Given the description of an element on the screen output the (x, y) to click on. 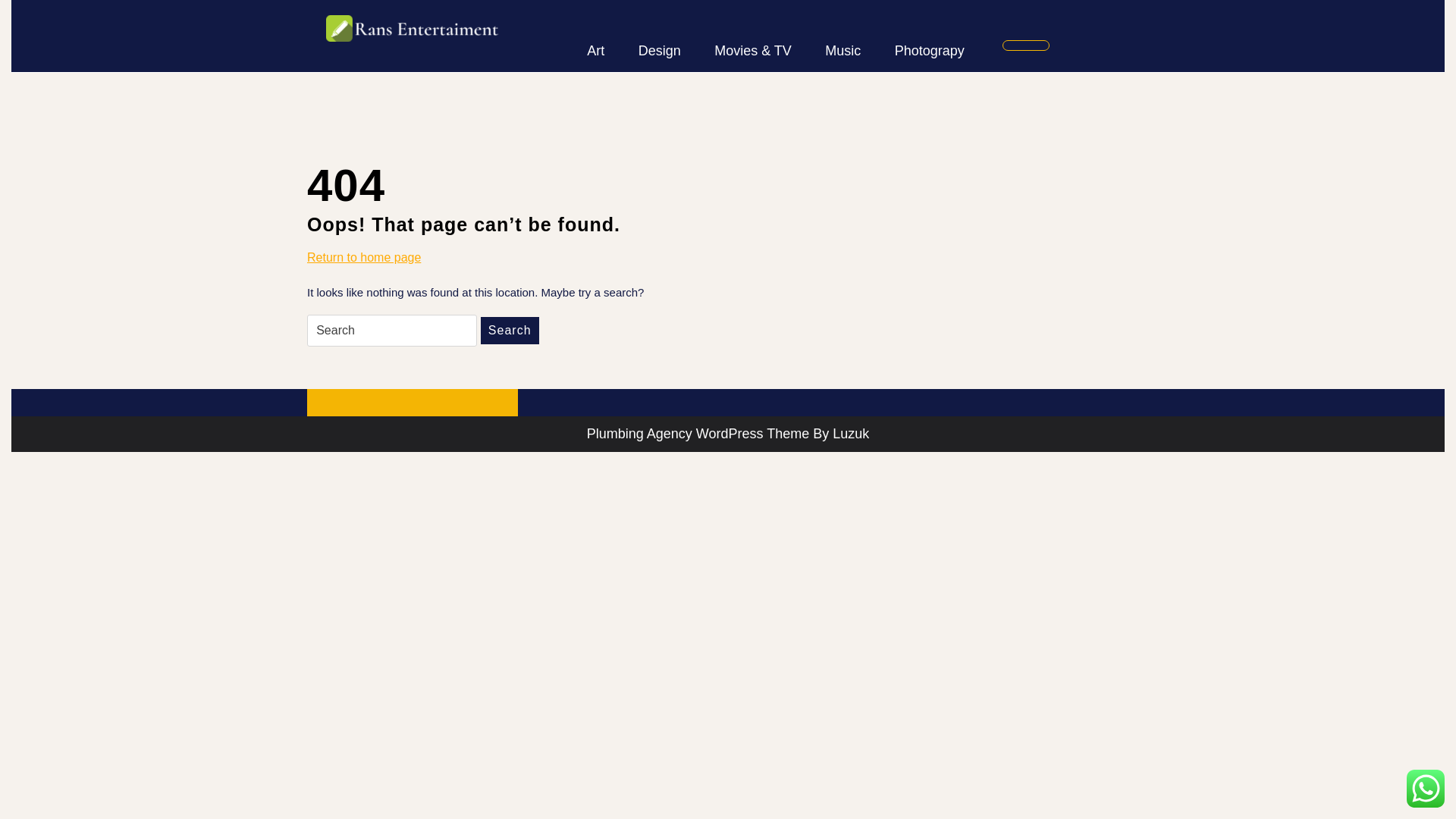
Design (659, 50)
Photograpy (363, 257)
Search (929, 50)
Art (509, 329)
Music (596, 50)
